Given the description of an element on the screen output the (x, y) to click on. 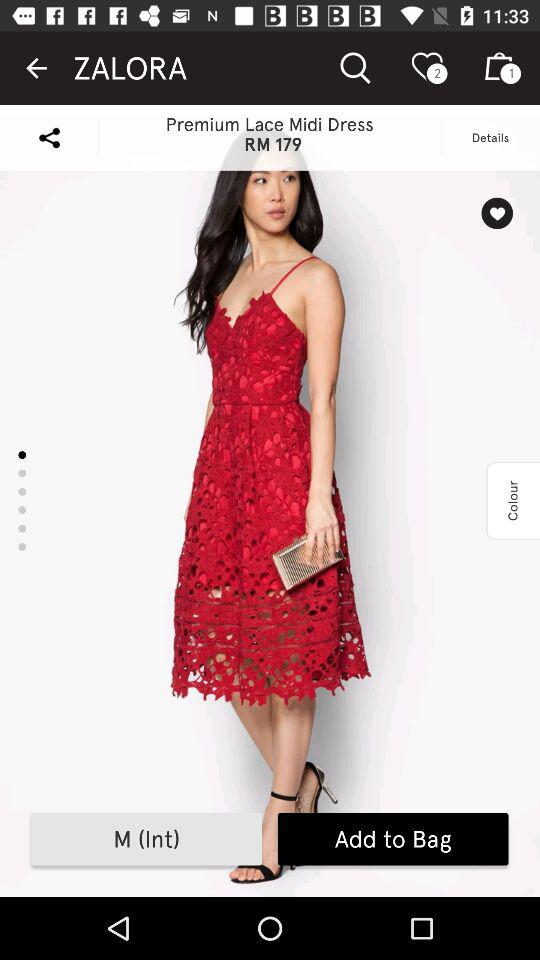
open add to bag (392, 839)
